Given the description of an element on the screen output the (x, y) to click on. 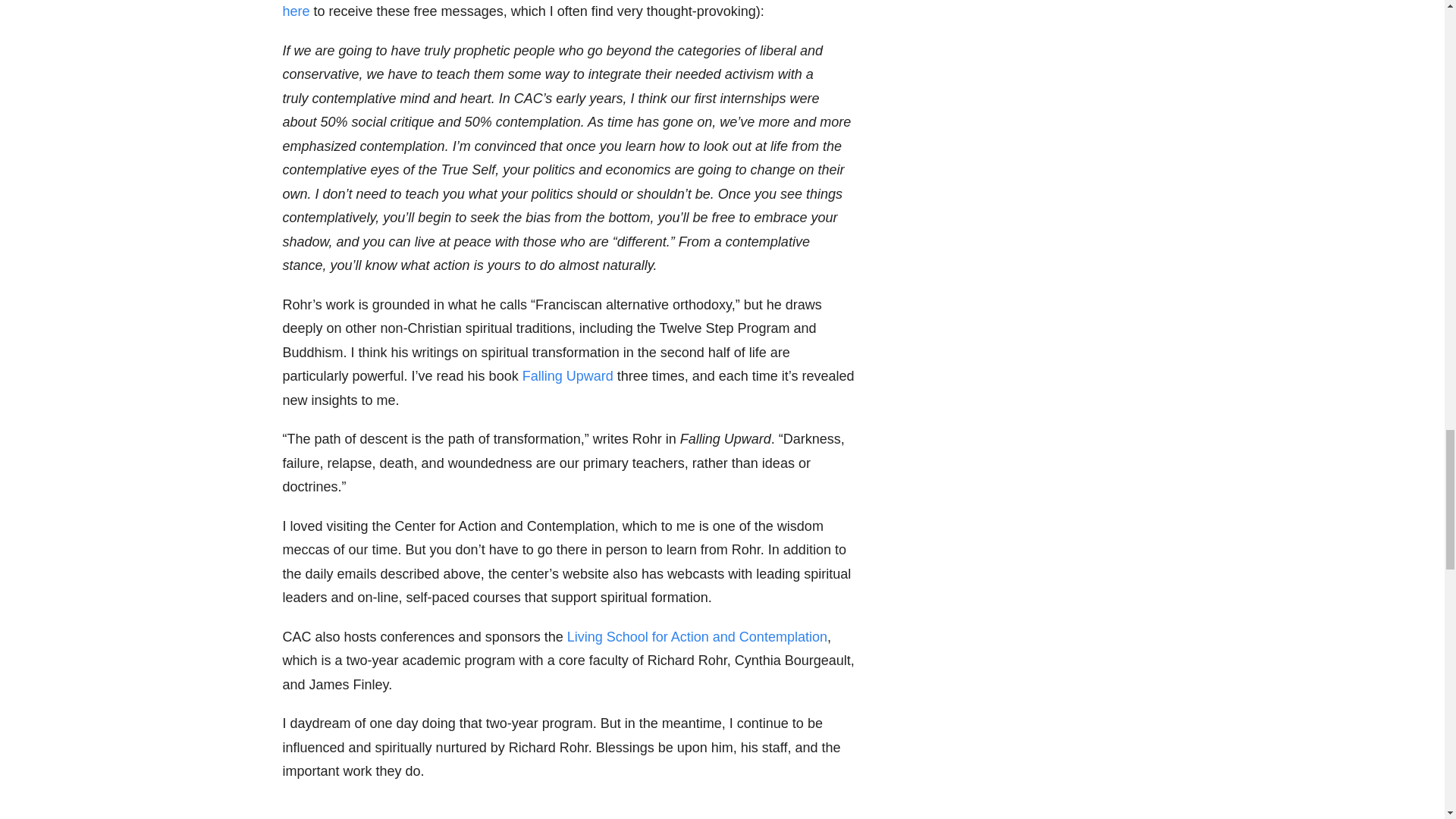
Living School for Action and Contemplation (697, 636)
here (295, 11)
Falling Upward (567, 376)
